Given the description of an element on the screen output the (x, y) to click on. 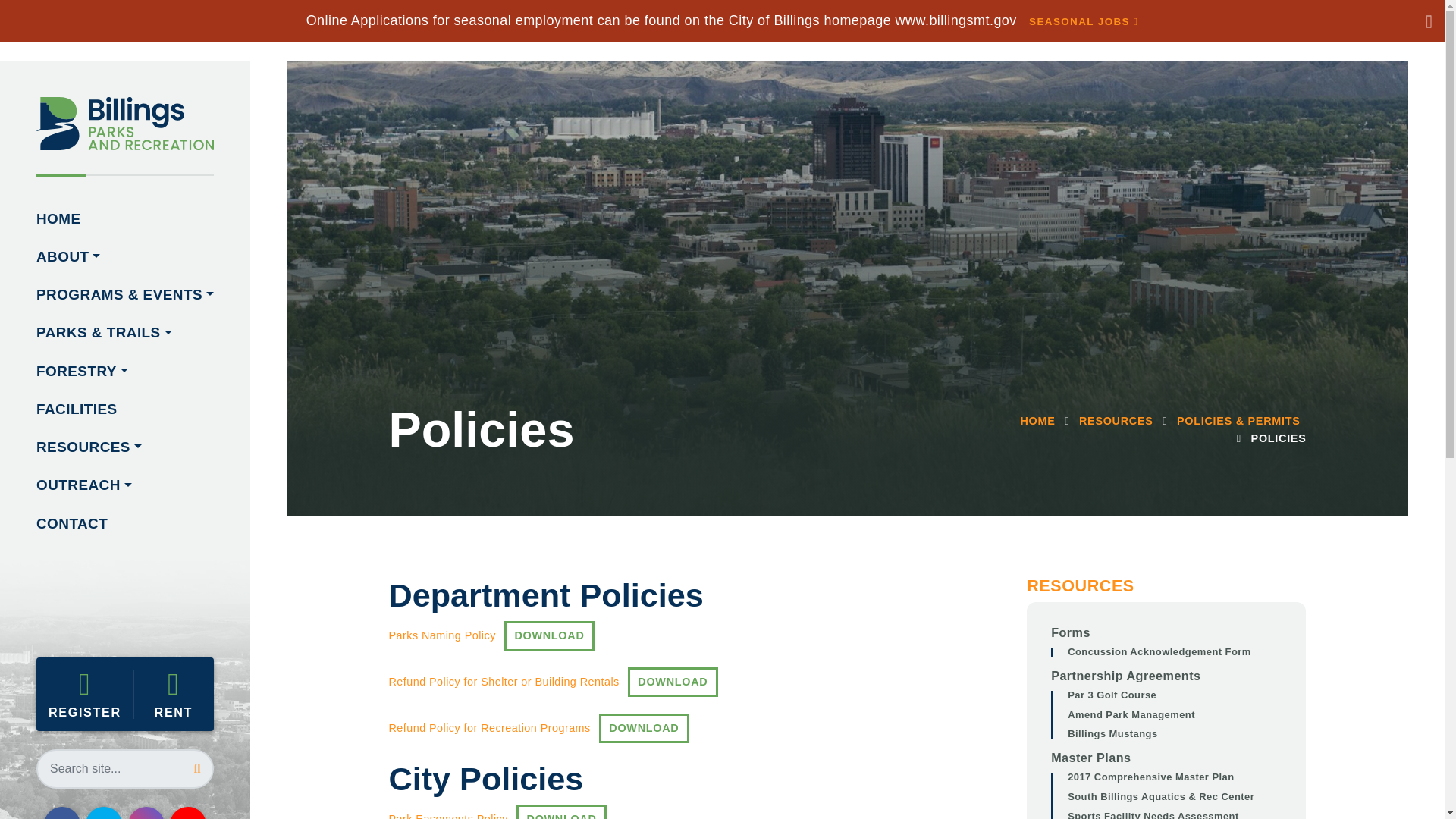
Billings Parks and Recreation (1083, 21)
